Given the description of an element on the screen output the (x, y) to click on. 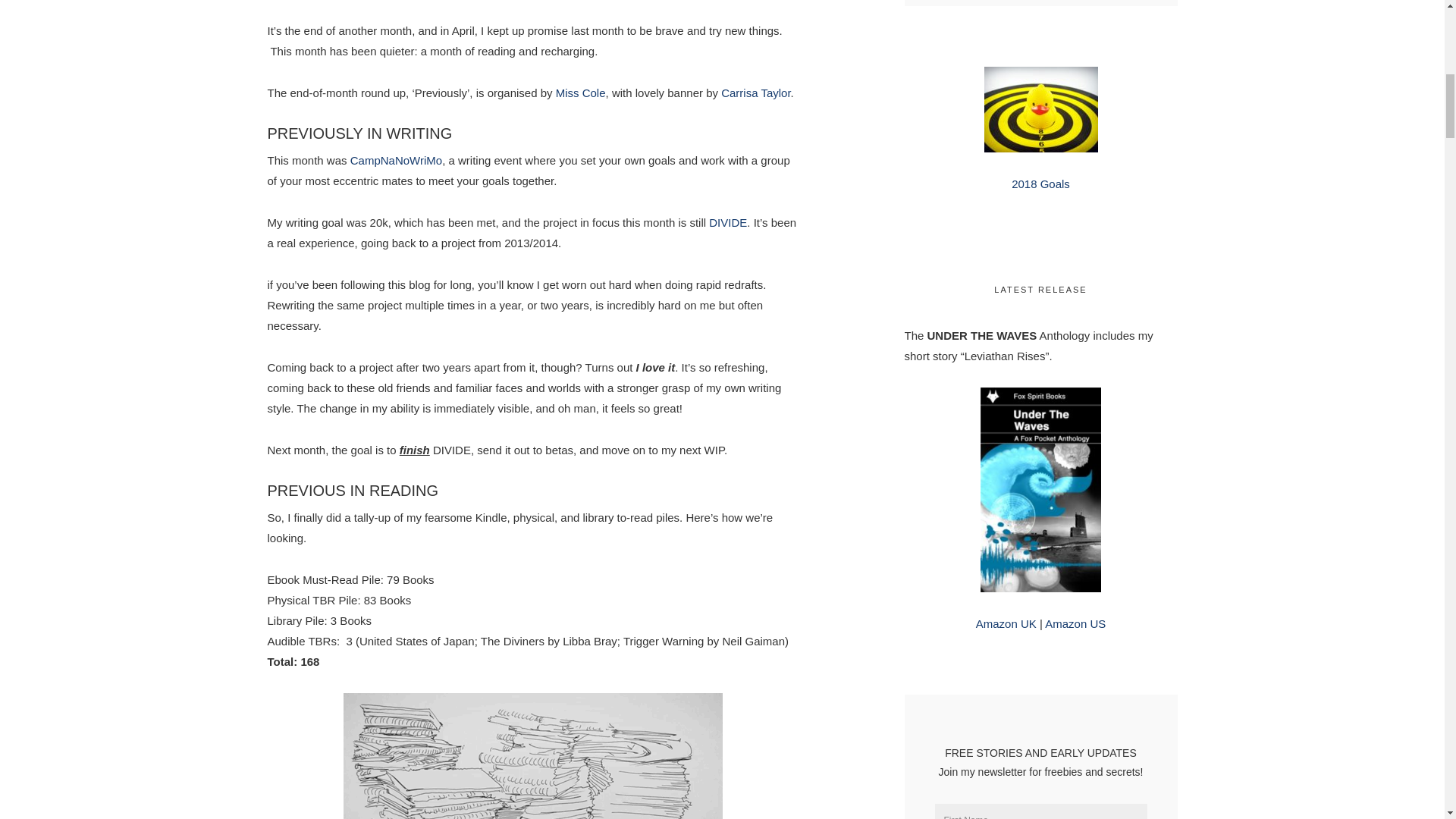
Carrisa Taylor (755, 92)
DIVIDE (727, 222)
Miss Cole (580, 92)
CampNaNoWriMo (396, 160)
